Given the description of an element on the screen output the (x, y) to click on. 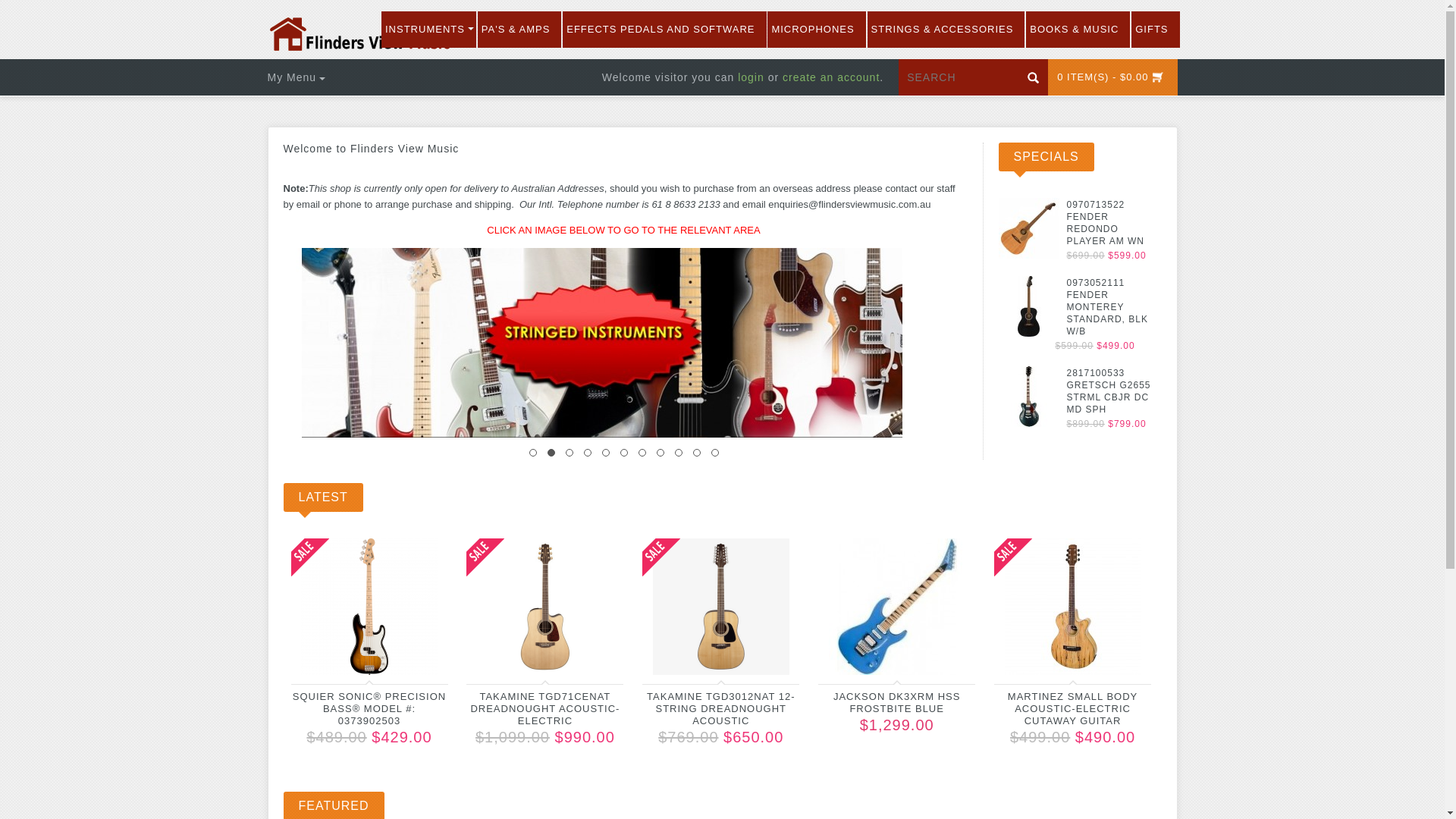
login Element type: text (750, 77)
MARTINEZ SMALL BODY ACOUSTIC-ELECTRIC CUTAWAY GUITAR Element type: text (1072, 708)
Add to Cart Element type: text (423, 659)
9 Element type: text (678, 452)
0970713522 FENDER REDONDO PLAYER AM WN Element type: text (1104, 222)
PA'S & AMPS Element type: text (519, 29)
BOOKS & MUSIC Element type: text (1077, 29)
JACKSON DK3XRM HSS FROSTBITE BLUE Element type: text (896, 702)
3 Element type: text (569, 452)
0 ITEM(S) - $0.00 Element type: text (1112, 77)
4 Element type: text (587, 452)
0973052111 FENDER MONTEREY STANDARD, BLK W/B Element type: text (1106, 306)
INSTRUMENTS Element type: text (428, 29)
GIFTS Element type: text (1155, 29)
5 Element type: text (605, 452)
Add to Cart Element type: text (599, 659)
Add to Cart Element type: text (1126, 659)
Add to Cart Element type: text (774, 659)
6 Element type: text (623, 452)
STRINGS & ACCESSORIES Element type: text (946, 29)
TAKAMINE TGD3012NAT 12-STRING DREADNOUGHT ACOUSTIC Element type: text (720, 708)
EFFECTS PEDALS AND SOFTWARE Element type: text (663, 29)
Add to Cart Element type: text (950, 659)
7 Element type: text (642, 452)
11 Element type: text (714, 452)
2 Element type: text (551, 452)
create an account Element type: text (830, 77)
8 Element type: text (660, 452)
10 Element type: text (696, 452)
TAKAMINE TGD71CENAT DREADNOUGHT ACOUSTIC-ELECTRIC Element type: text (544, 708)
2817100533 GRETSCH G2655 STRML CBJR DC MD SPH Element type: text (1108, 390)
MICROPHONES Element type: text (816, 29)
1 Element type: text (532, 452)
